Given the description of an element on the screen output the (x, y) to click on. 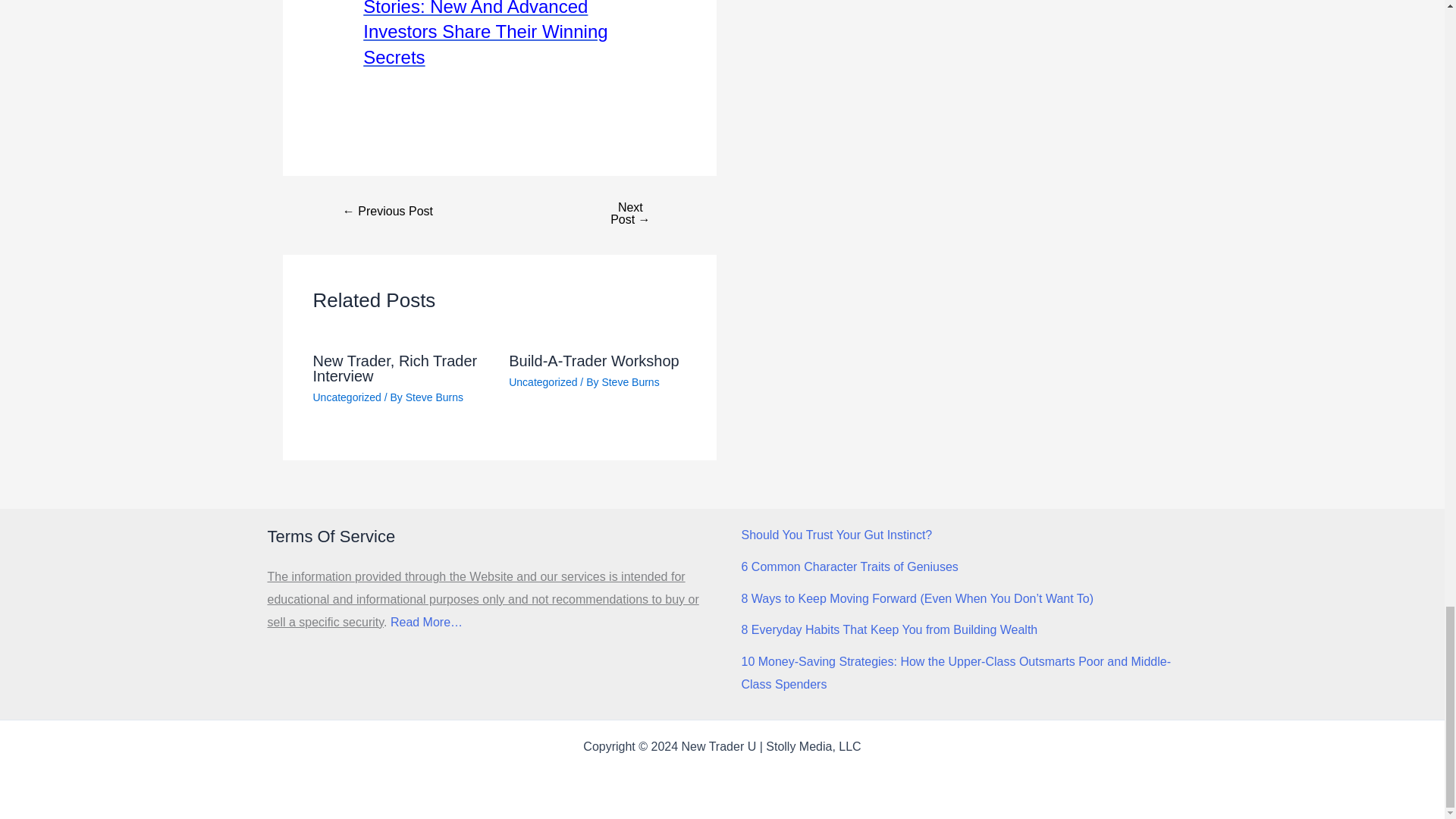
A New Modern Day Jesse Livermore (387, 211)
6 Common Character Traits of Geniuses (849, 566)
New Trader, Rich Trader Interview (395, 368)
Uncategorized (542, 381)
Should You Trust Your Gut Instinct? (837, 534)
View all posts by Steve Burns (434, 397)
Build-A-Trader Workshop (593, 360)
Uncategorized (346, 397)
Steve Burns (434, 397)
View all posts by Steve Burns (630, 381)
